Given the description of an element on the screen output the (x, y) to click on. 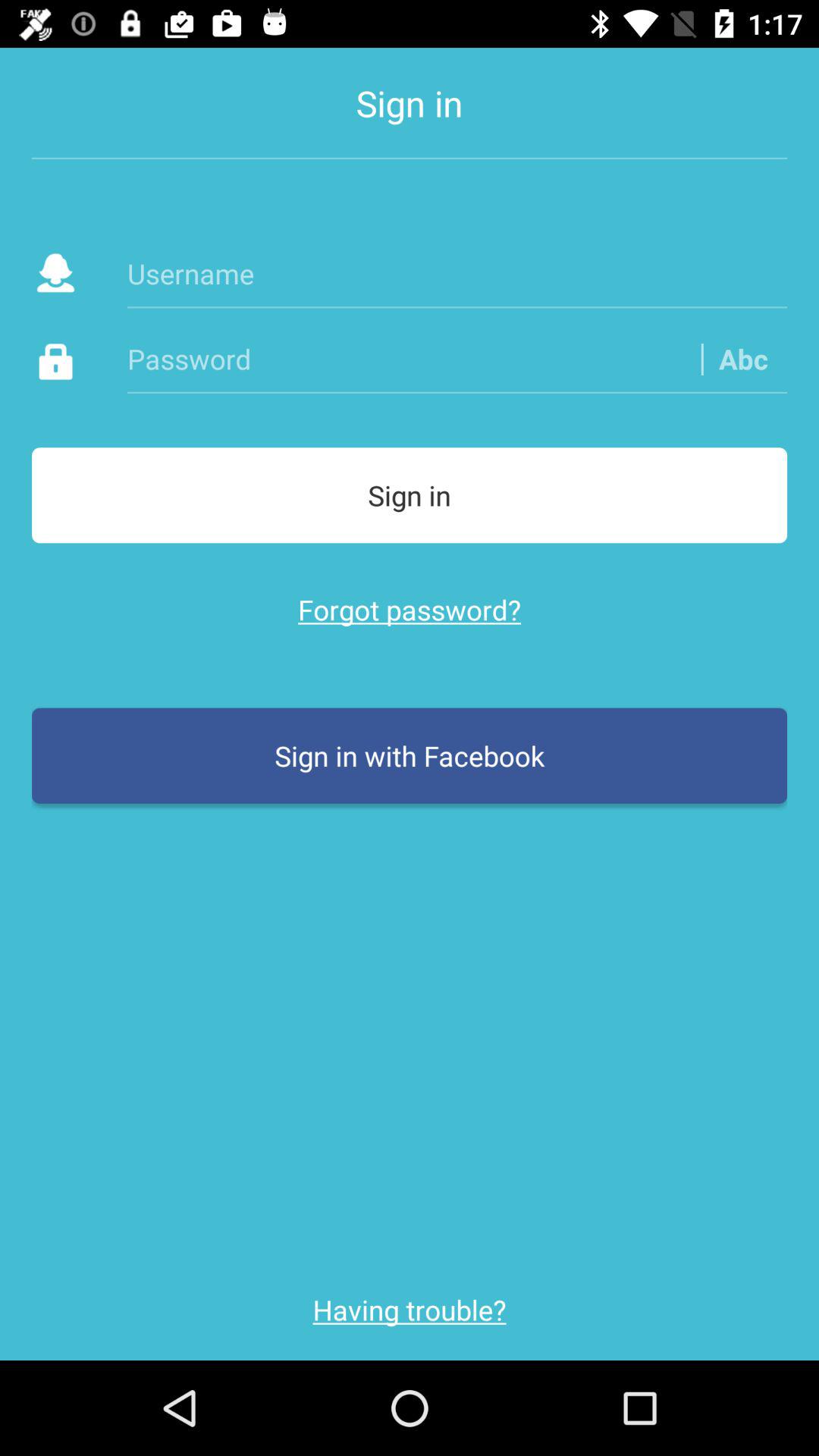
swipe to having trouble? (409, 1309)
